Given the description of an element on the screen output the (x, y) to click on. 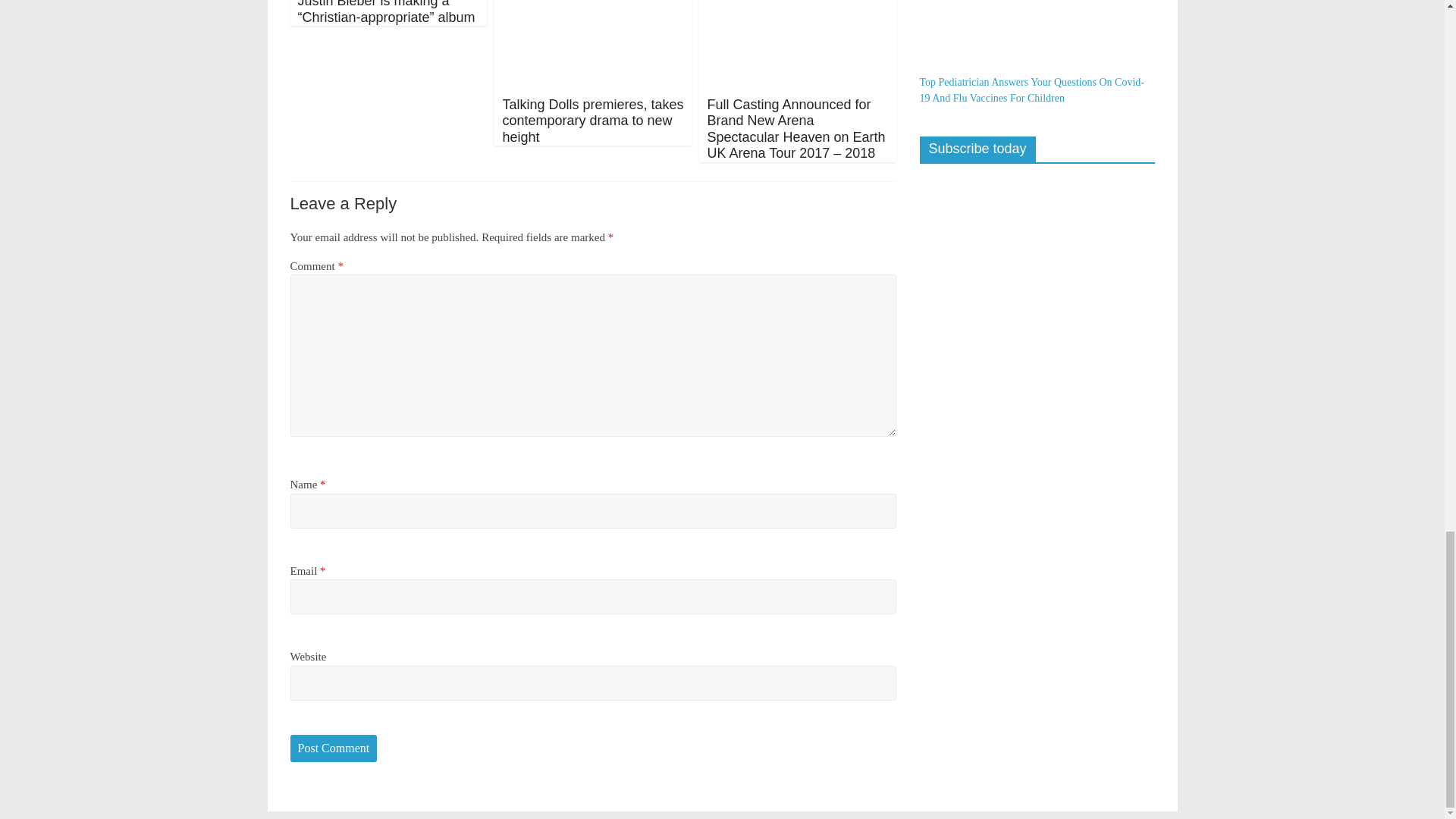
Post Comment (333, 748)
